Given the description of an element on the screen output the (x, y) to click on. 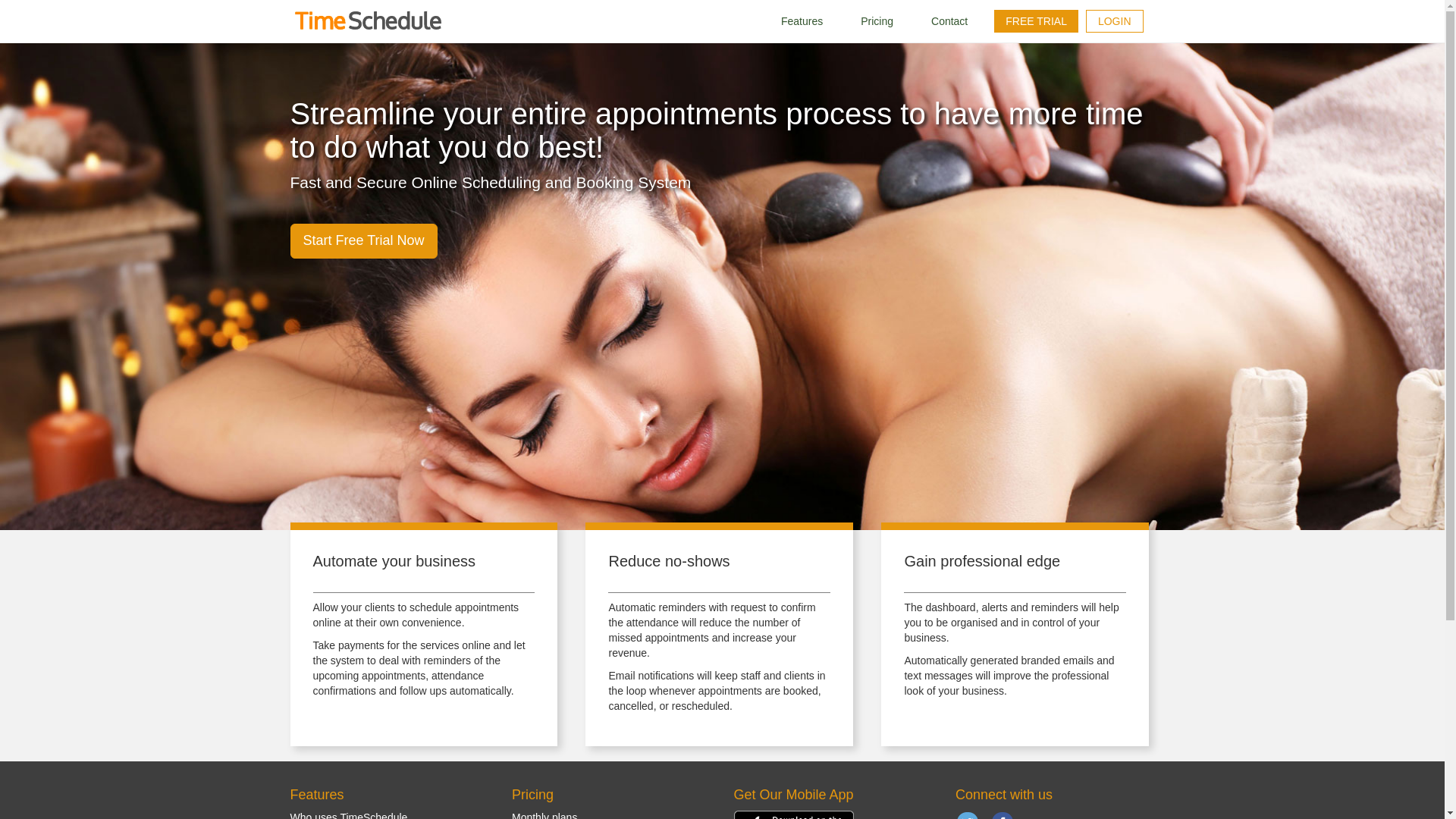
Automate your business (394, 560)
Start Free Trial Now (362, 240)
Monthly plans (544, 815)
Gain professional edge (981, 560)
Who uses TimeSchedule (348, 815)
Contact (949, 21)
Features (801, 21)
FREE TRIAL (1036, 20)
LOGIN (1114, 20)
Reduce no-shows (668, 560)
Pricing (876, 21)
